Given the description of an element on the screen output the (x, y) to click on. 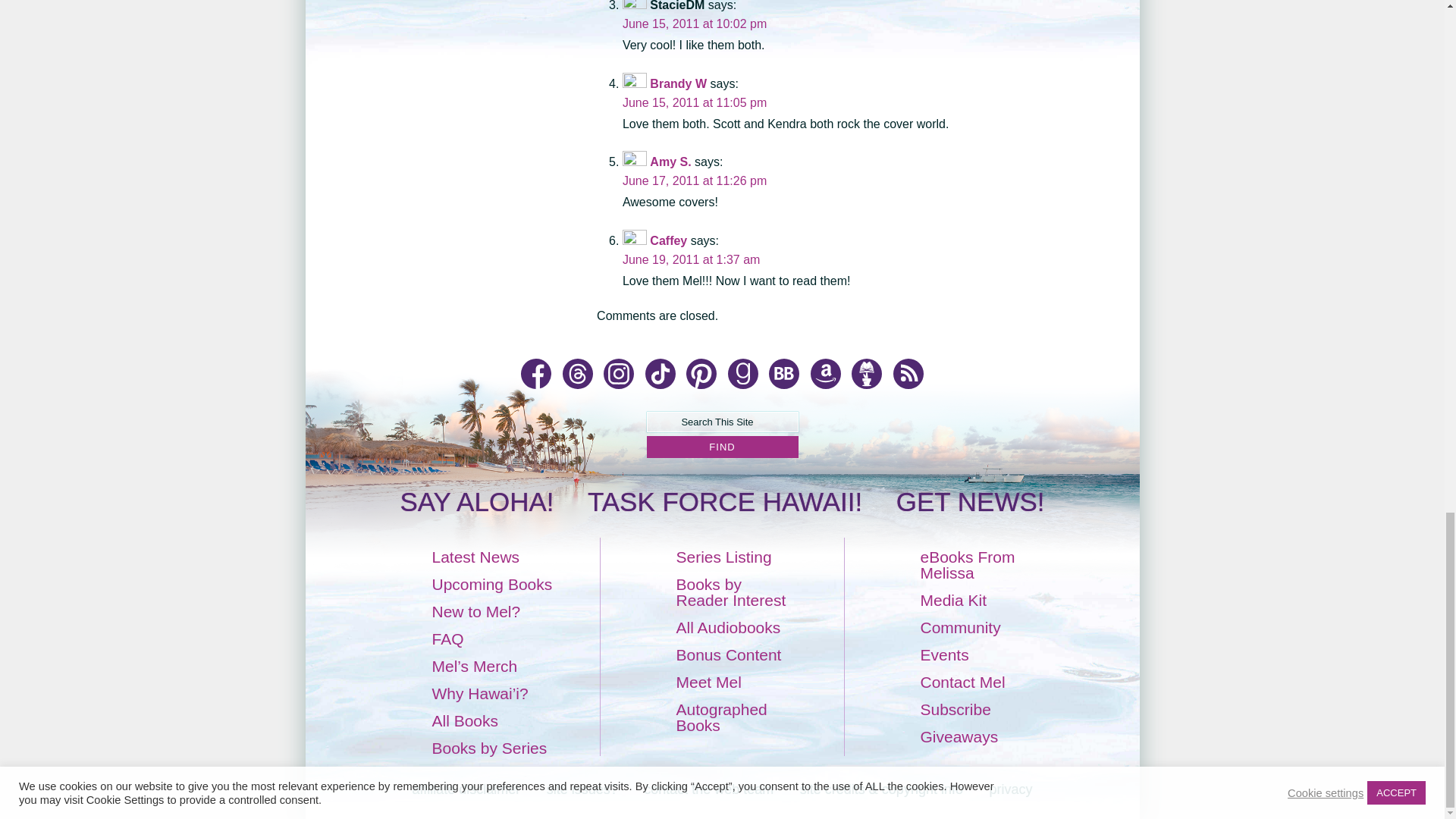
Search This Site (721, 421)
Find (721, 446)
Search for: (721, 421)
Search This Site (721, 421)
